Given the description of an element on the screen output the (x, y) to click on. 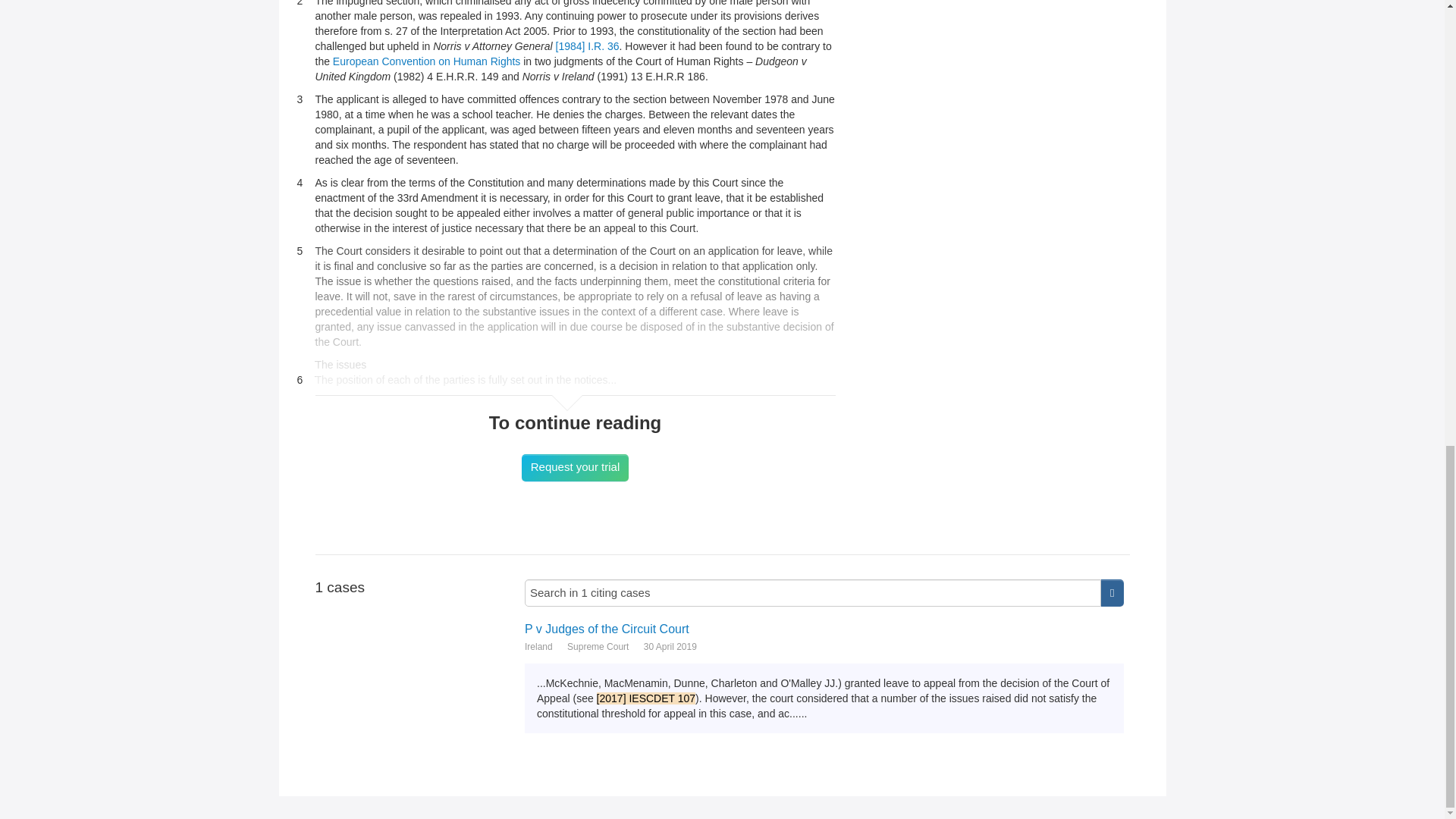
European Convention on Human Rights (427, 61)
Ireland (538, 646)
P v Judges of the Circuit Court (824, 628)
P v Judges of the Circuit Court (824, 628)
Supreme Court (597, 646)
30 April 2019 (670, 646)
